Given the description of an element on the screen output the (x, y) to click on. 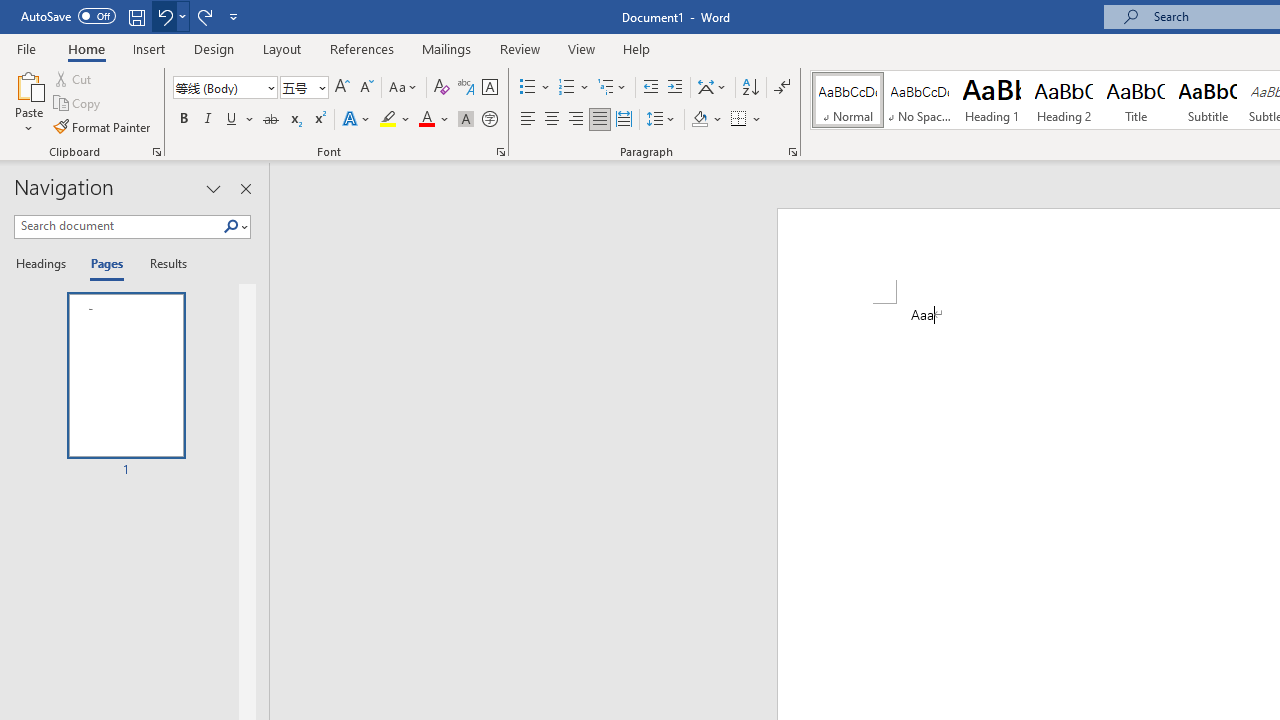
Design (214, 48)
Open (320, 87)
Heading 2 (1063, 100)
Search document (118, 226)
Asian Layout (712, 87)
Pages (105, 264)
Undo Increase Indent (164, 15)
Align Left (527, 119)
Justify (599, 119)
Title (1135, 100)
Show/Hide Editing Marks (781, 87)
Center (552, 119)
